Given the description of an element on the screen output the (x, y) to click on. 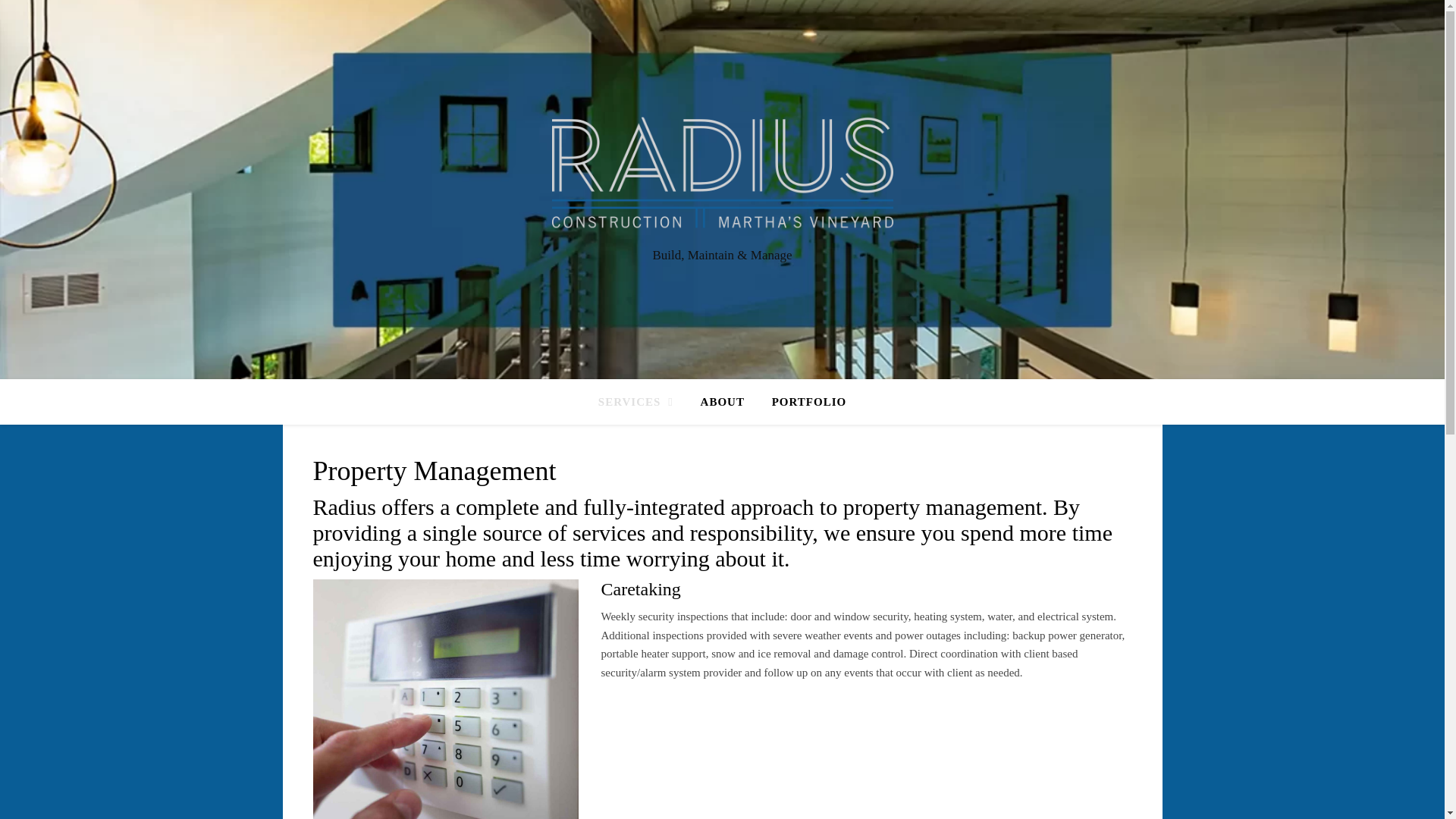
PORTFOLIO (802, 402)
ABOUT (722, 402)
SERVICES (641, 402)
